Given the description of an element on the screen output the (x, y) to click on. 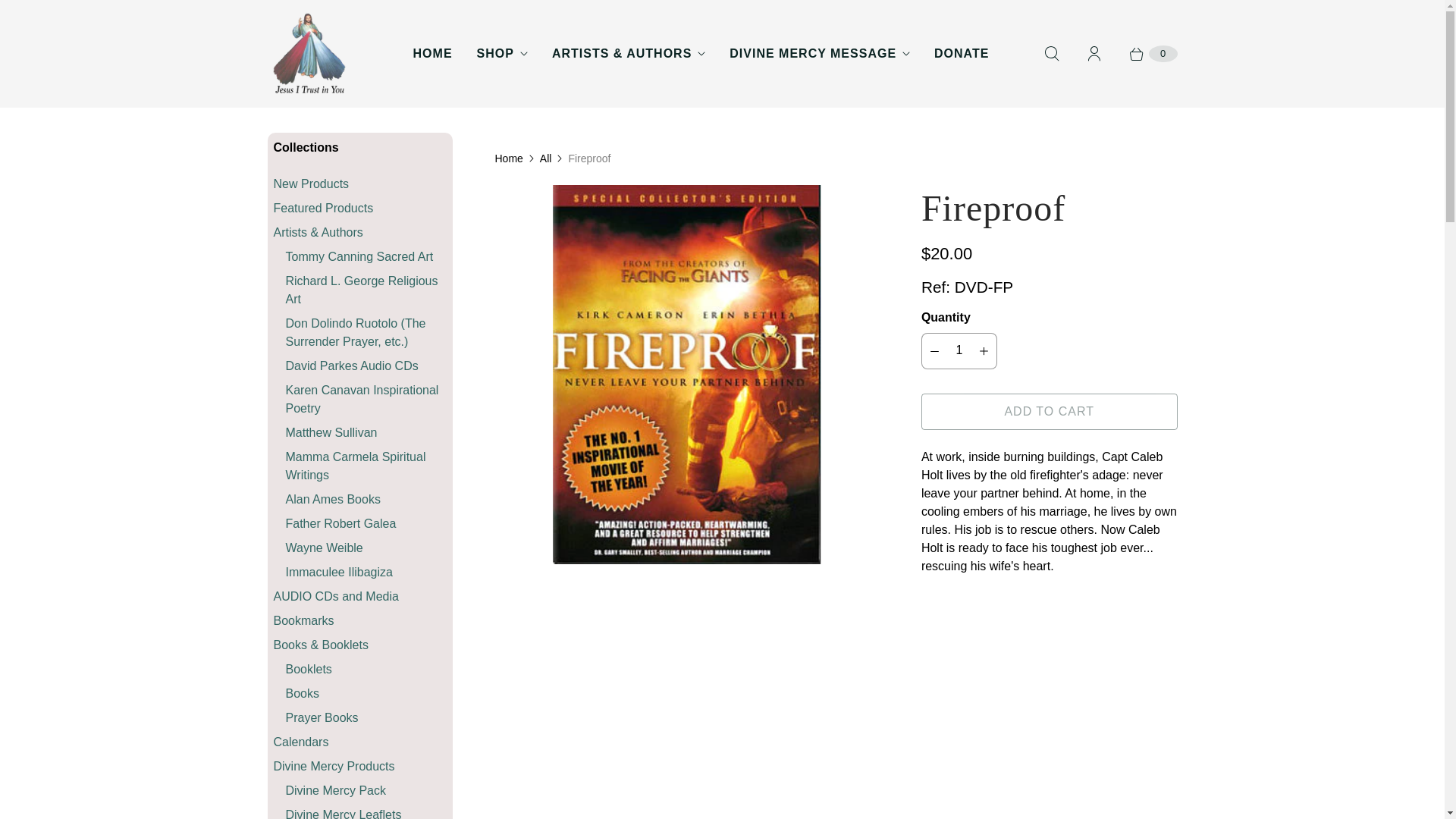
HOME (432, 54)
